Given the description of an element on the screen output the (x, y) to click on. 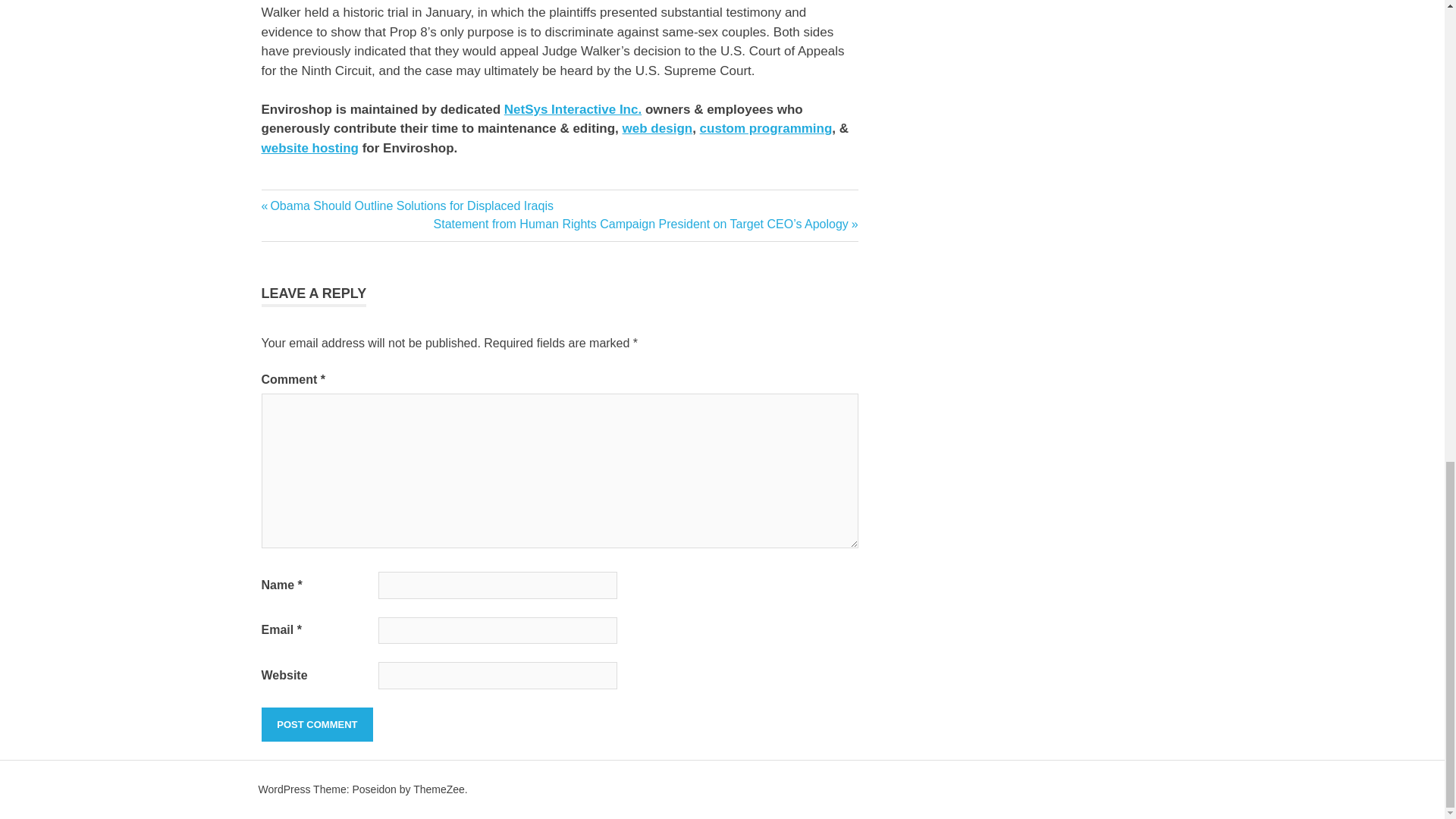
Post Comment (316, 724)
